Given the description of an element on the screen output the (x, y) to click on. 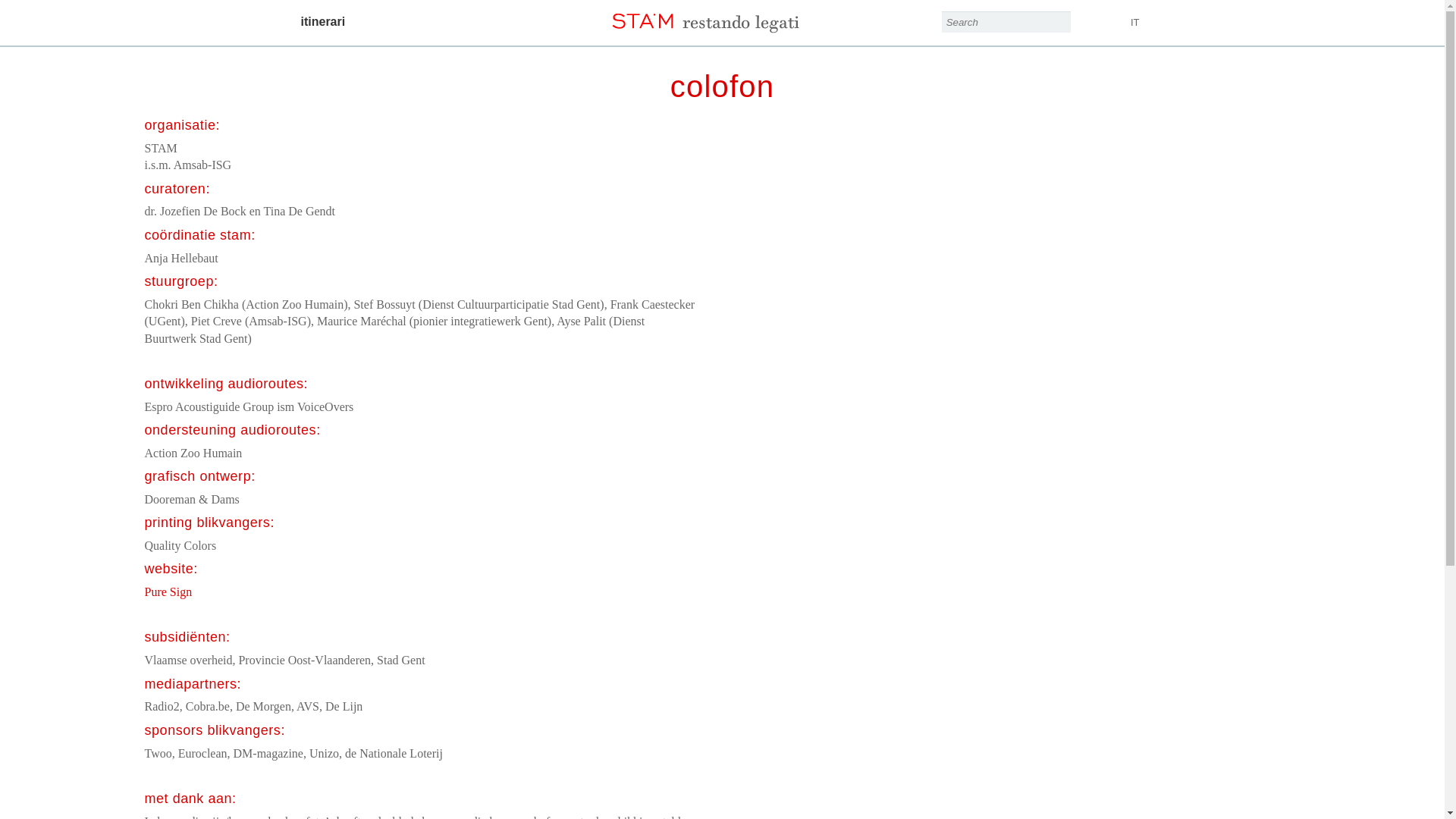
Search Element type: text (1059, 21)
Pure Sign Element type: text (167, 591)
Home Element type: hover (721, 16)
Enter the terms you wish to search for. Element type: hover (1005, 21)
itinerari Element type: text (322, 21)
